Given the description of an element on the screen output the (x, y) to click on. 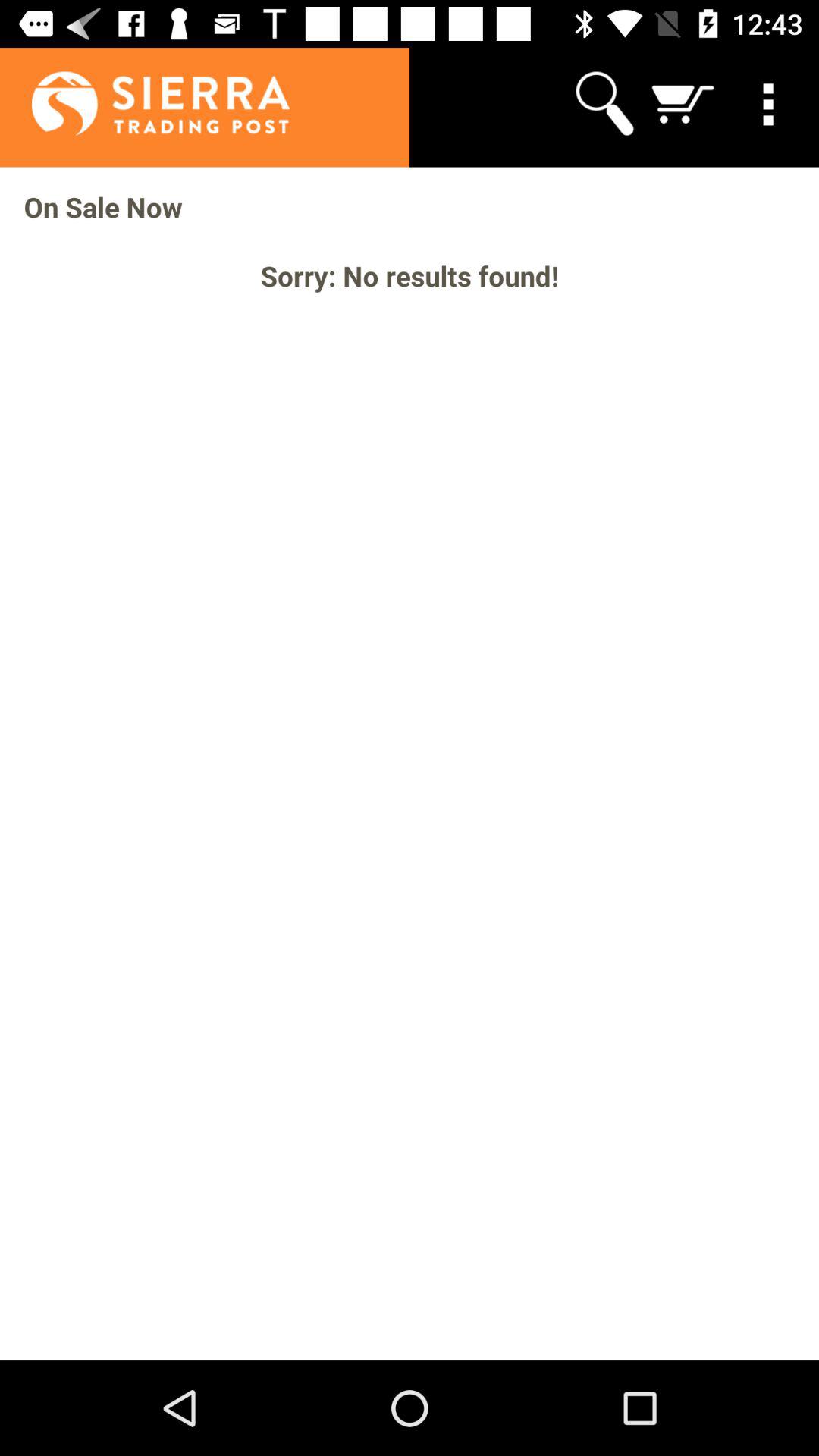
open item above the on sale now item (603, 103)
